Given the description of an element on the screen output the (x, y) to click on. 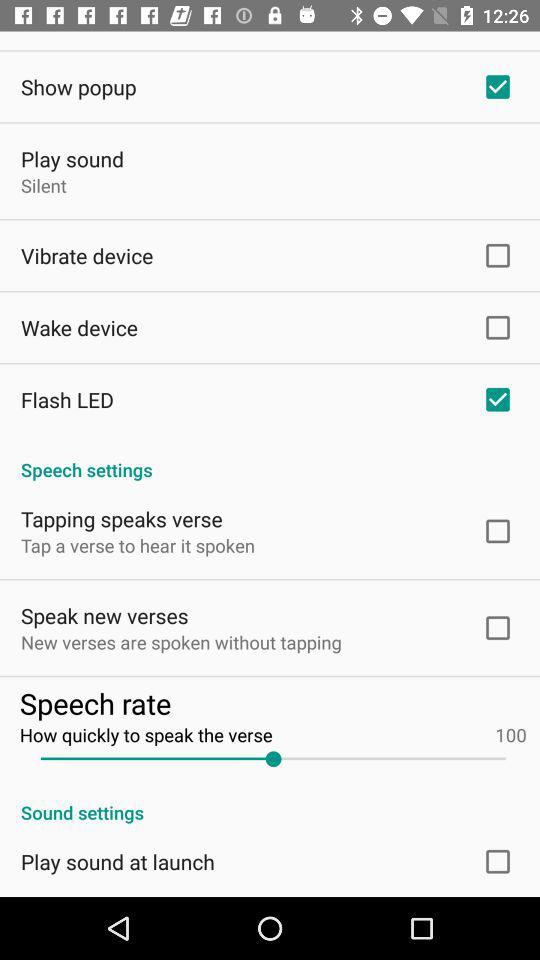
scroll to the flash led app (67, 399)
